Given the description of an element on the screen output the (x, y) to click on. 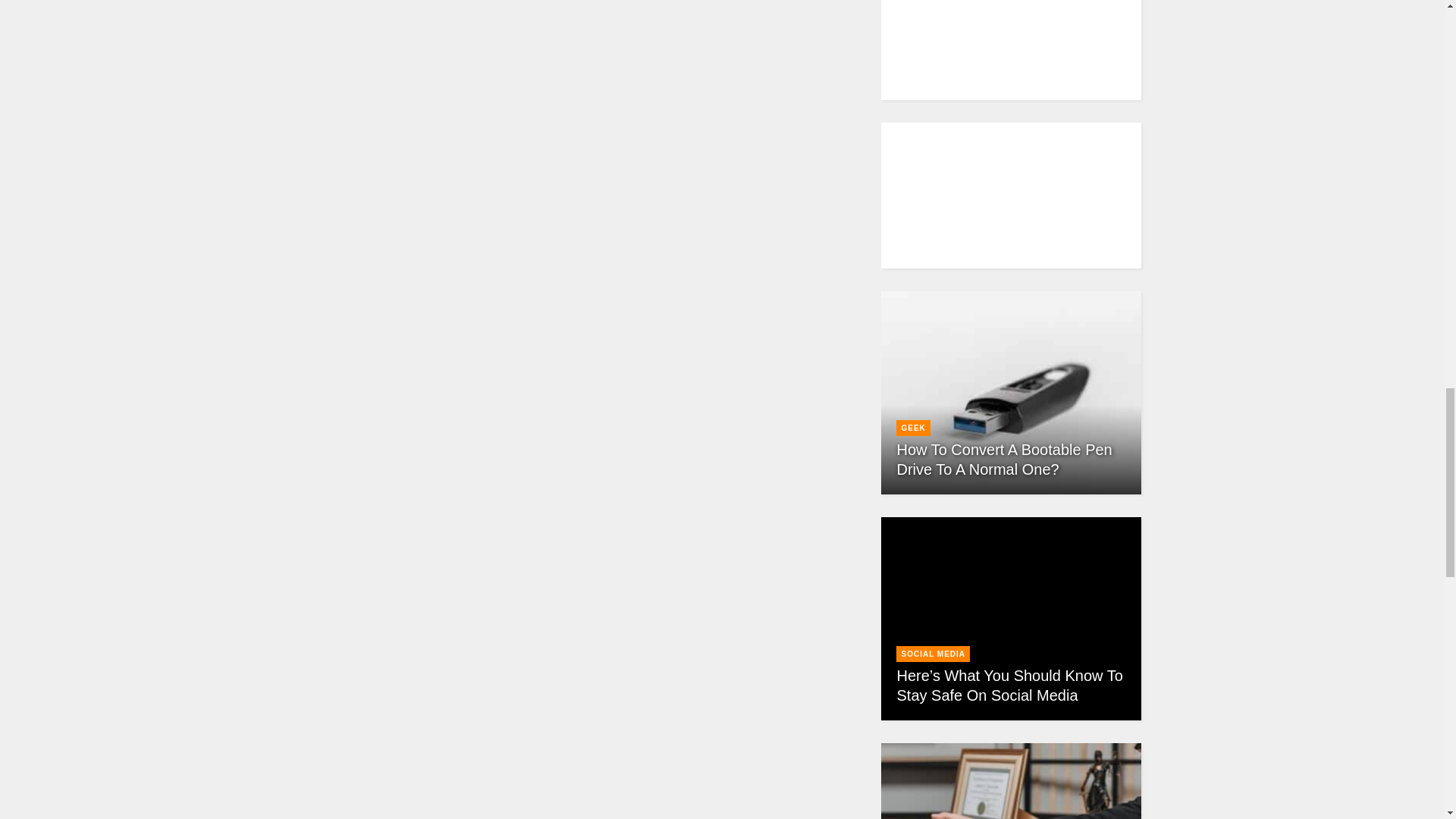
worlds-largest-kaleidoscope-crystals (580, 465)
worlds-largest-kaleidoscope-crystals (580, 715)
